Given the description of an element on the screen output the (x, y) to click on. 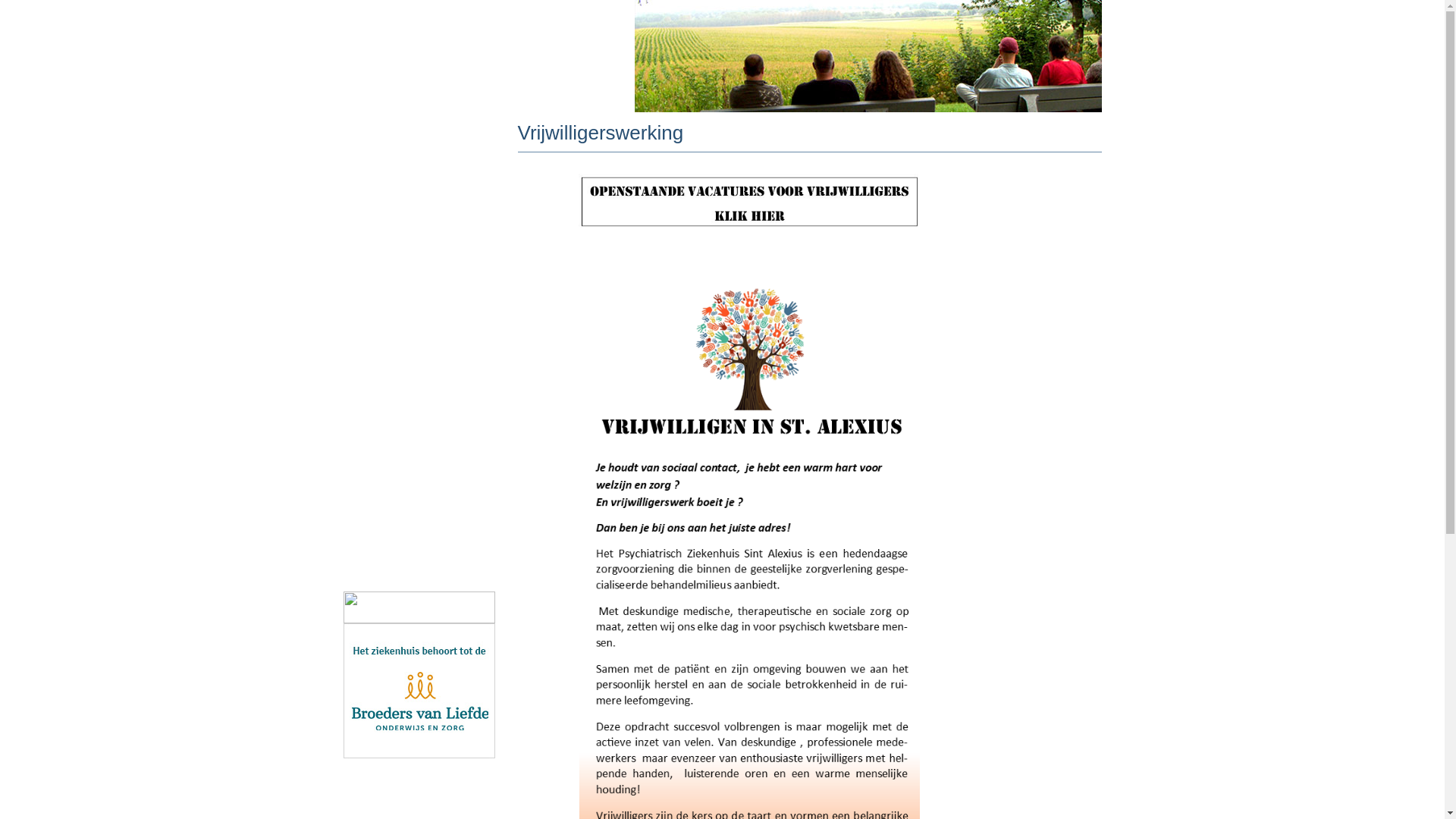
Algemeen Element type: text (418, 234)
Contact Element type: text (418, 507)
Vrijwilligers Element type: text (379, 370)
NIEUWS/ AGENDA Element type: text (418, 542)
Corona Element type: text (418, 166)
Solliciteren Element type: text (418, 473)
Patienten - Betrokkenen Element type: text (418, 269)
Inspiratiegids Groen Element type: text (404, 575)
Zorgnetwerk Element type: text (383, 336)
NIEUWS/ AGENDA Element type: text (403, 541)
wetenschap/onderzoek Element type: text (412, 439)
Zorgnetwerk Element type: text (418, 337)
Home Element type: text (366, 131)
Stagiairs Element type: text (373, 404)
Corona Element type: text (369, 166)
Vrijwilligers Element type: text (418, 371)
Algemeen Element type: text (377, 234)
Patienten - Betrokkenen Element type: text (415, 268)
Verwijzers Element type: text (377, 302)
Solliciteren Element type: text (379, 473)
wetenschap/onderzoek Element type: text (418, 439)
Inspiratiegids Groen Element type: text (418, 576)
Contact Element type: text (370, 507)
Verwijzers Element type: text (418, 303)
Open Geestdagen Element type: text (418, 200)
Open Geestdagen Element type: text (399, 200)
Stagiairs Element type: text (418, 405)
Home Element type: text (418, 132)
